Given the description of an element on the screen output the (x, y) to click on. 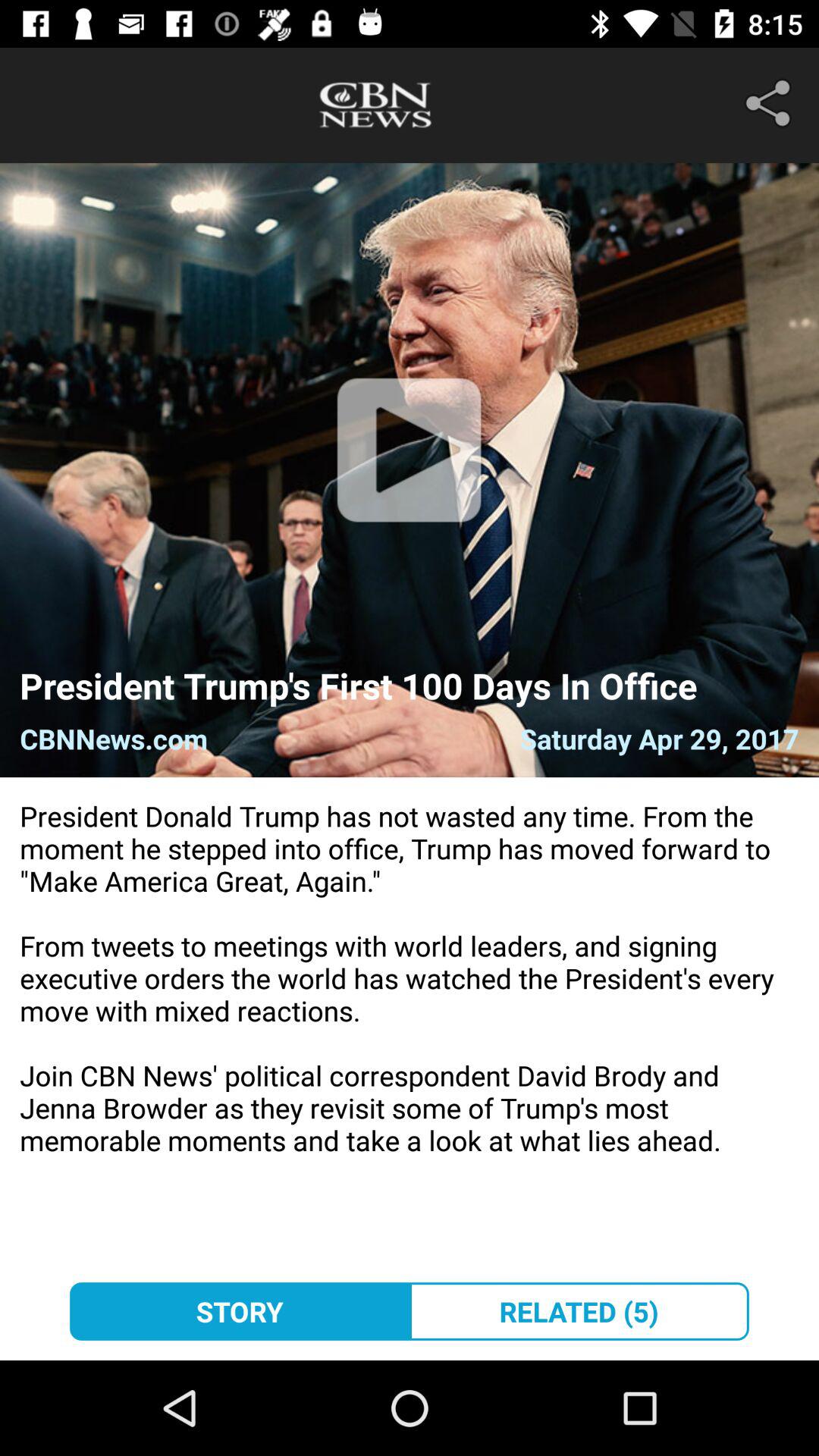
press icon to the right of story item (579, 1311)
